Given the description of an element on the screen output the (x, y) to click on. 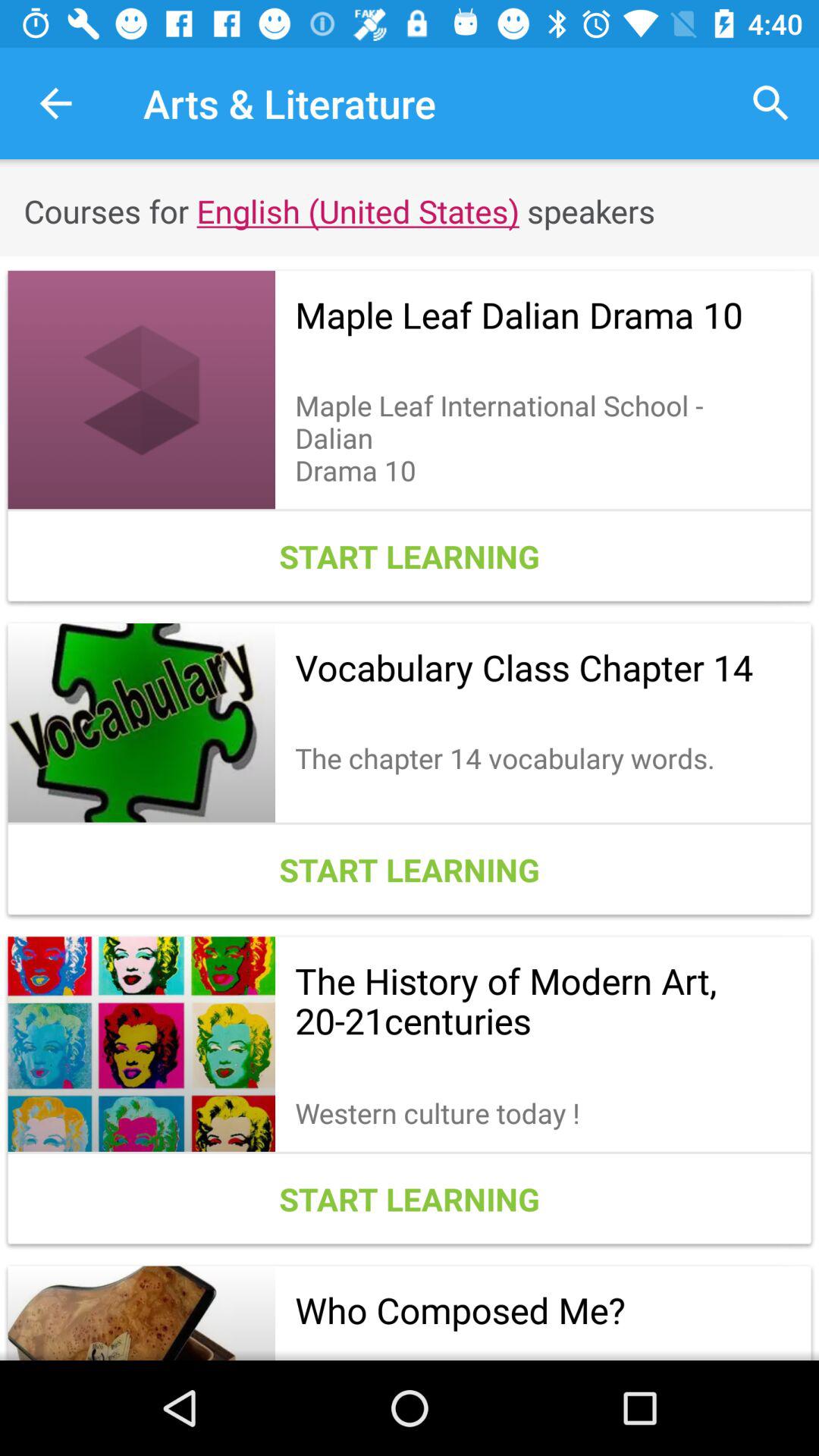
select the icon next to the arts & literature icon (55, 103)
